Given the description of an element on the screen output the (x, y) to click on. 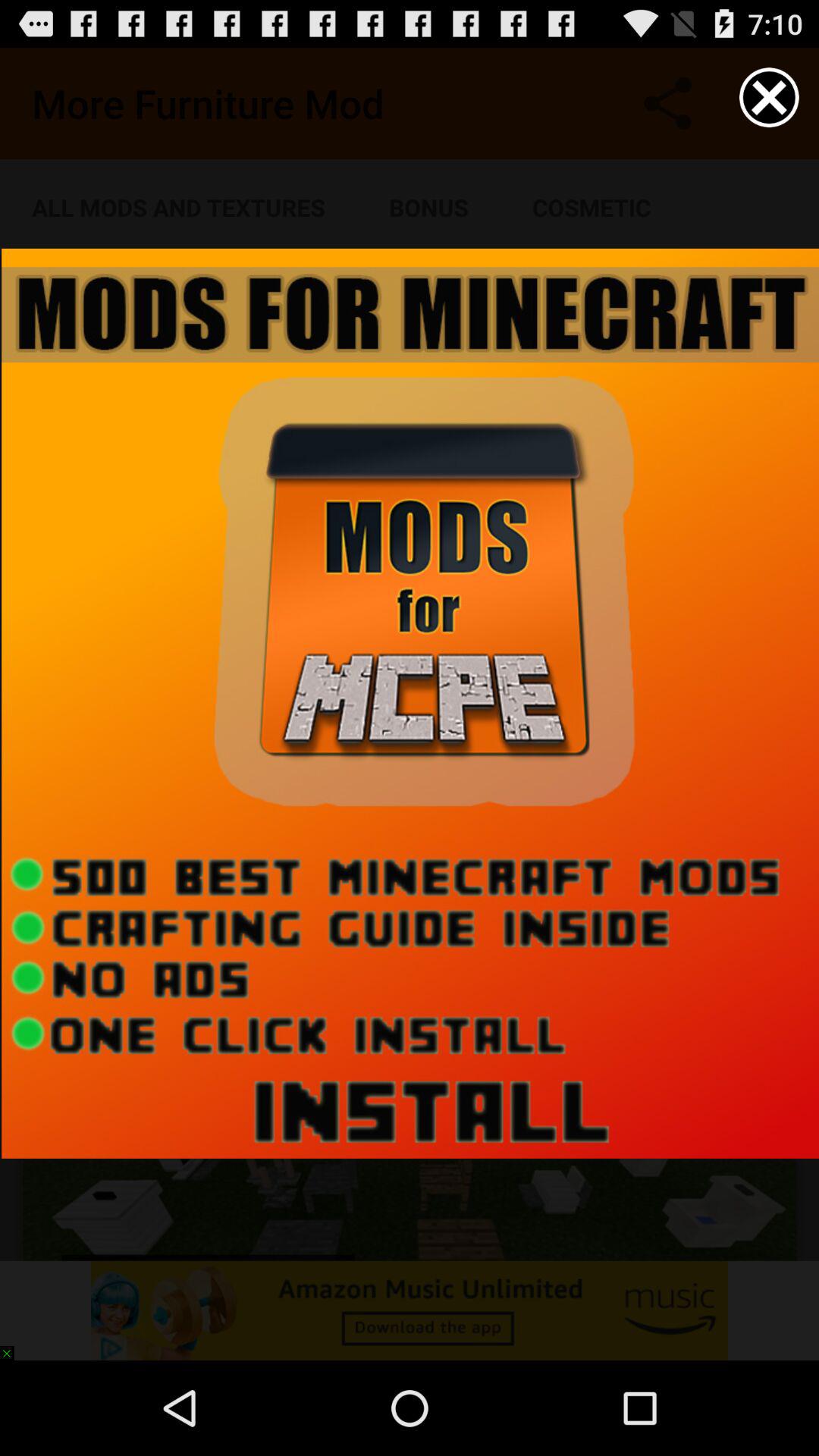
the cncel symbol bar (769, 97)
